Given the description of an element on the screen output the (x, y) to click on. 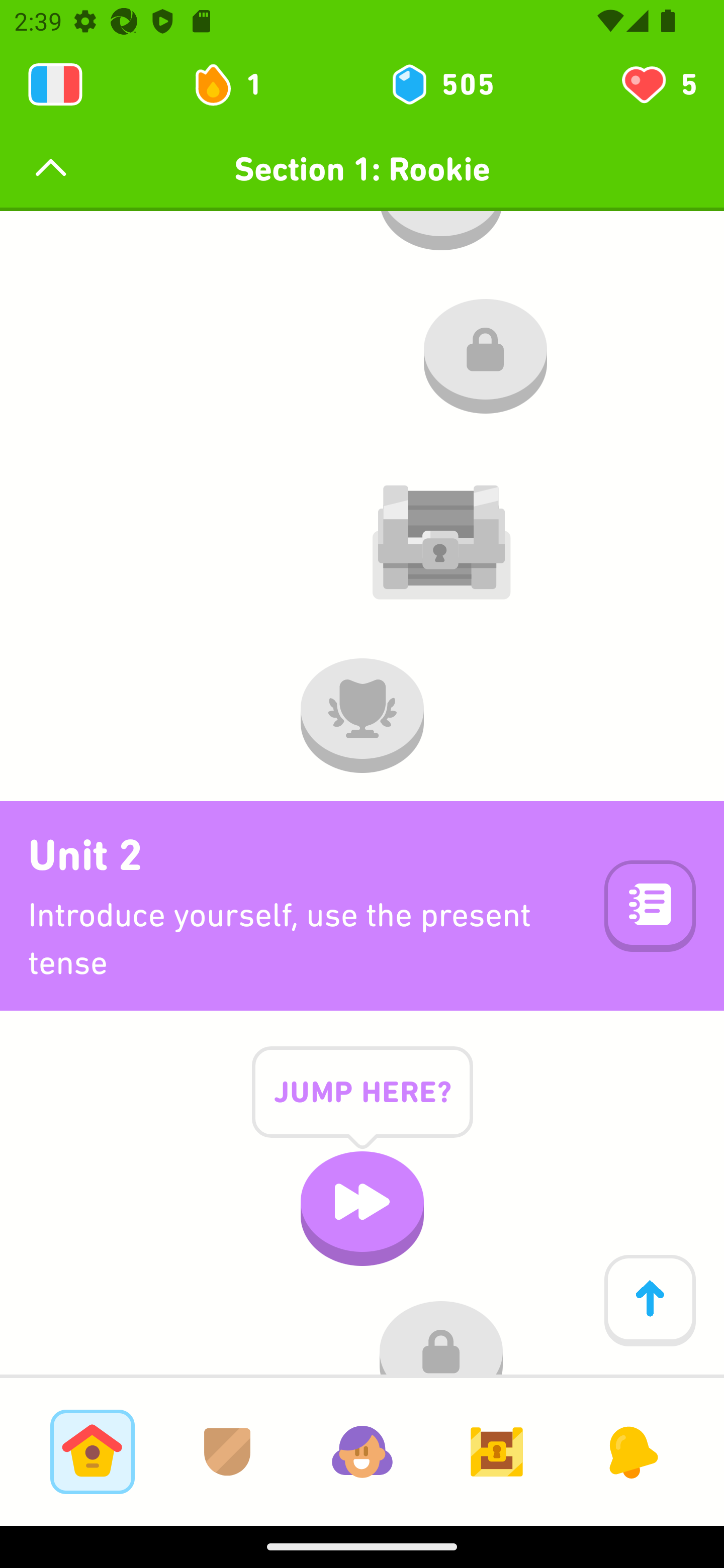
Learning 2131888976 (55, 84)
1 day streak 1 (236, 84)
505 (441, 84)
You have 5 hearts left 5 (657, 84)
Section 1: Rookie (362, 169)
JUMP HERE? (361, 1106)
Learn Tab (91, 1451)
Leagues Tab (227, 1451)
Profile Tab (361, 1451)
Goals Tab (496, 1451)
News Tab (631, 1451)
